Given the description of an element on the screen output the (x, y) to click on. 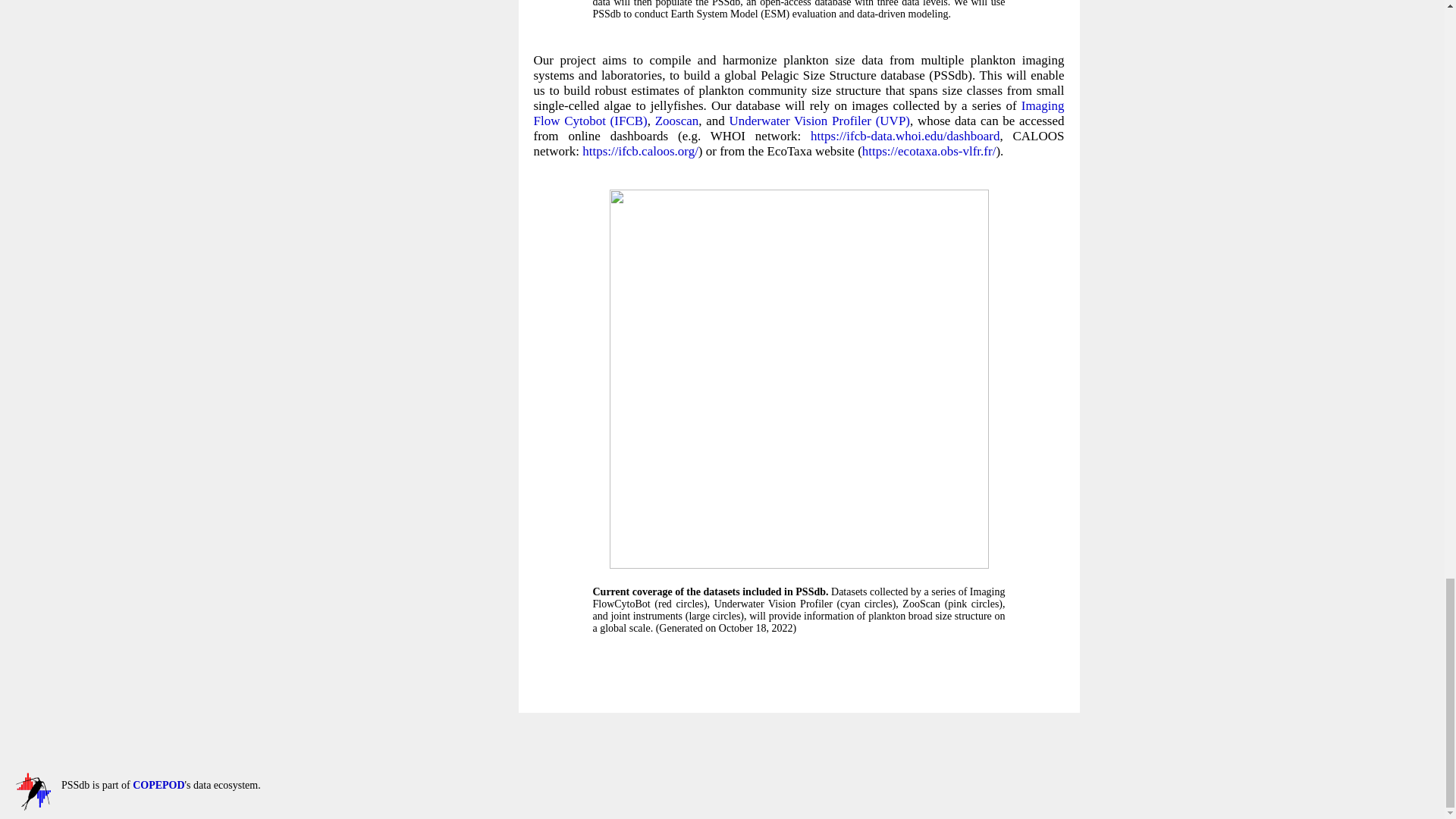
COPEPOD (33, 806)
COPEPOD (158, 785)
click to zoom (799, 564)
Zooscan (676, 120)
